Given the description of an element on the screen output the (x, y) to click on. 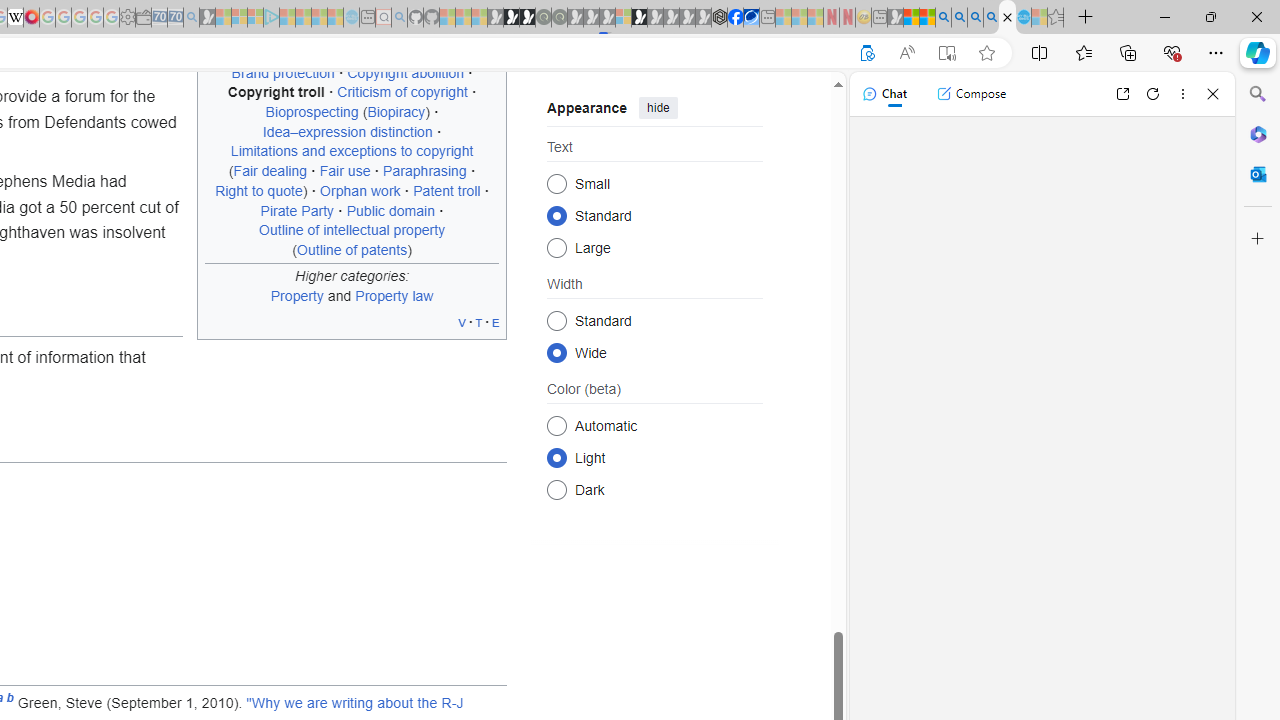
Play Zoo Boom in your browser | Games from Microsoft Start (511, 17)
Close (1213, 93)
Outline of patents (351, 249)
Services - Maintenance | Sky Blue Bikes - Sky Blue Bikes (1023, 17)
Collections (1128, 52)
Bing AI - Search (943, 17)
Bing Real Estate - Home sales and rental listings - Sleeping (191, 17)
Search (1258, 94)
Orphan work (360, 190)
2009 Bing officially replaced Live Search on June 3 - Search (959, 17)
